Given the description of an element on the screen output the (x, y) to click on. 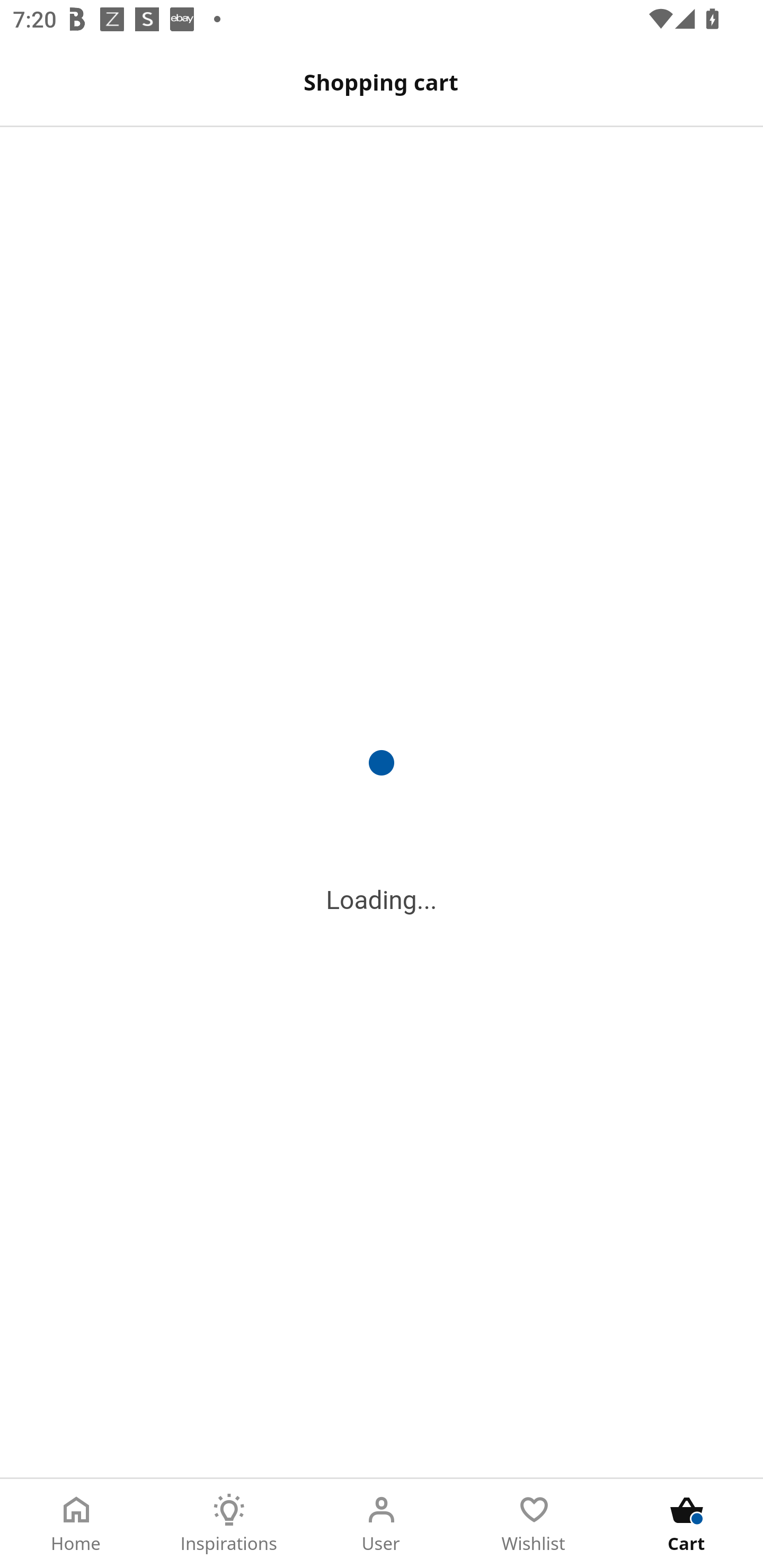
Home
Tab 1 of 5 (76, 1522)
Inspirations
Tab 2 of 5 (228, 1522)
User
Tab 3 of 5 (381, 1522)
Wishlist
Tab 4 of 5 (533, 1522)
Cart
Tab 5 of 5 (686, 1522)
